Given the description of an element on the screen output the (x, y) to click on. 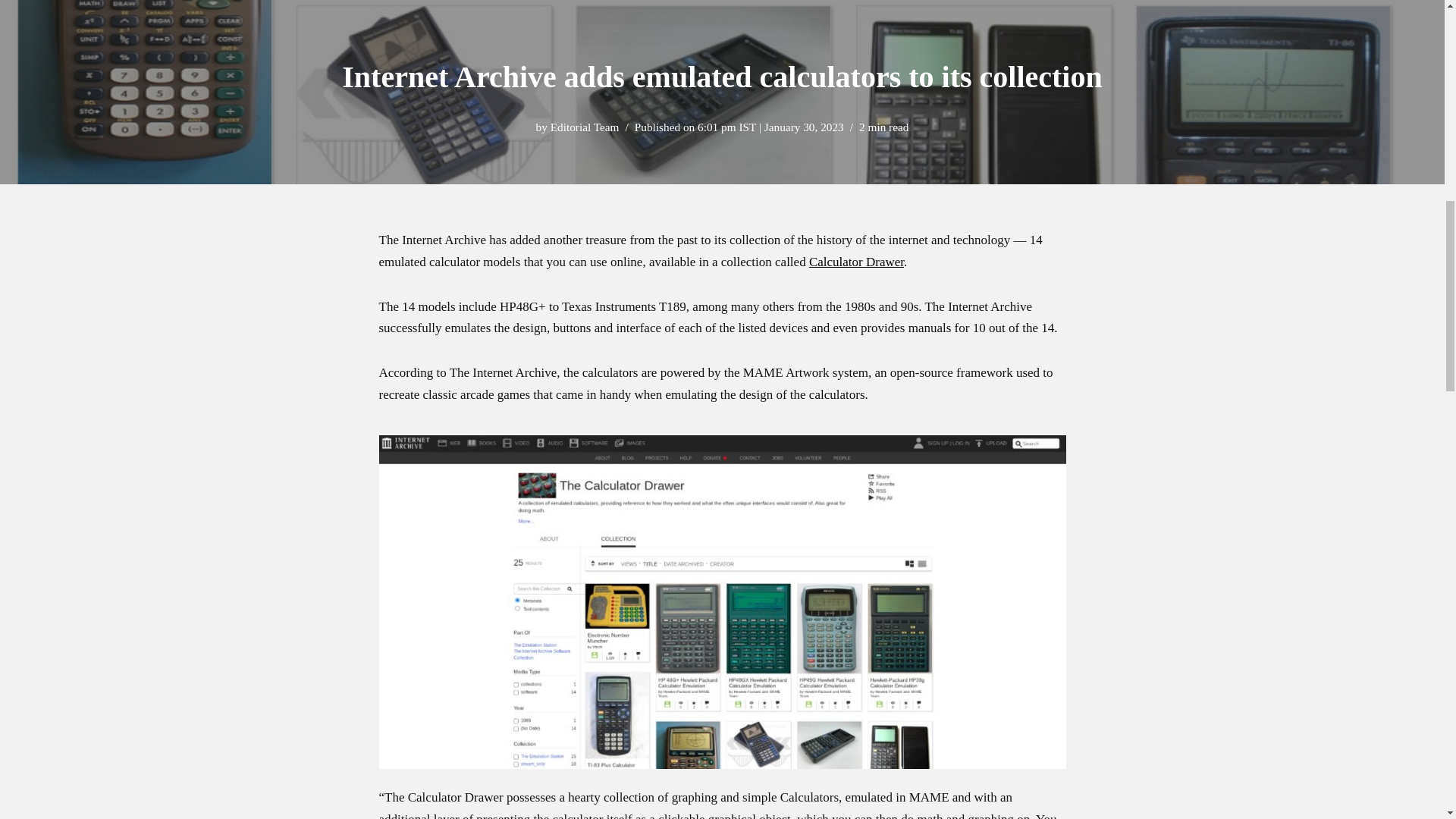
Posts by Editorial Team (585, 126)
